Given the description of an element on the screen output the (x, y) to click on. 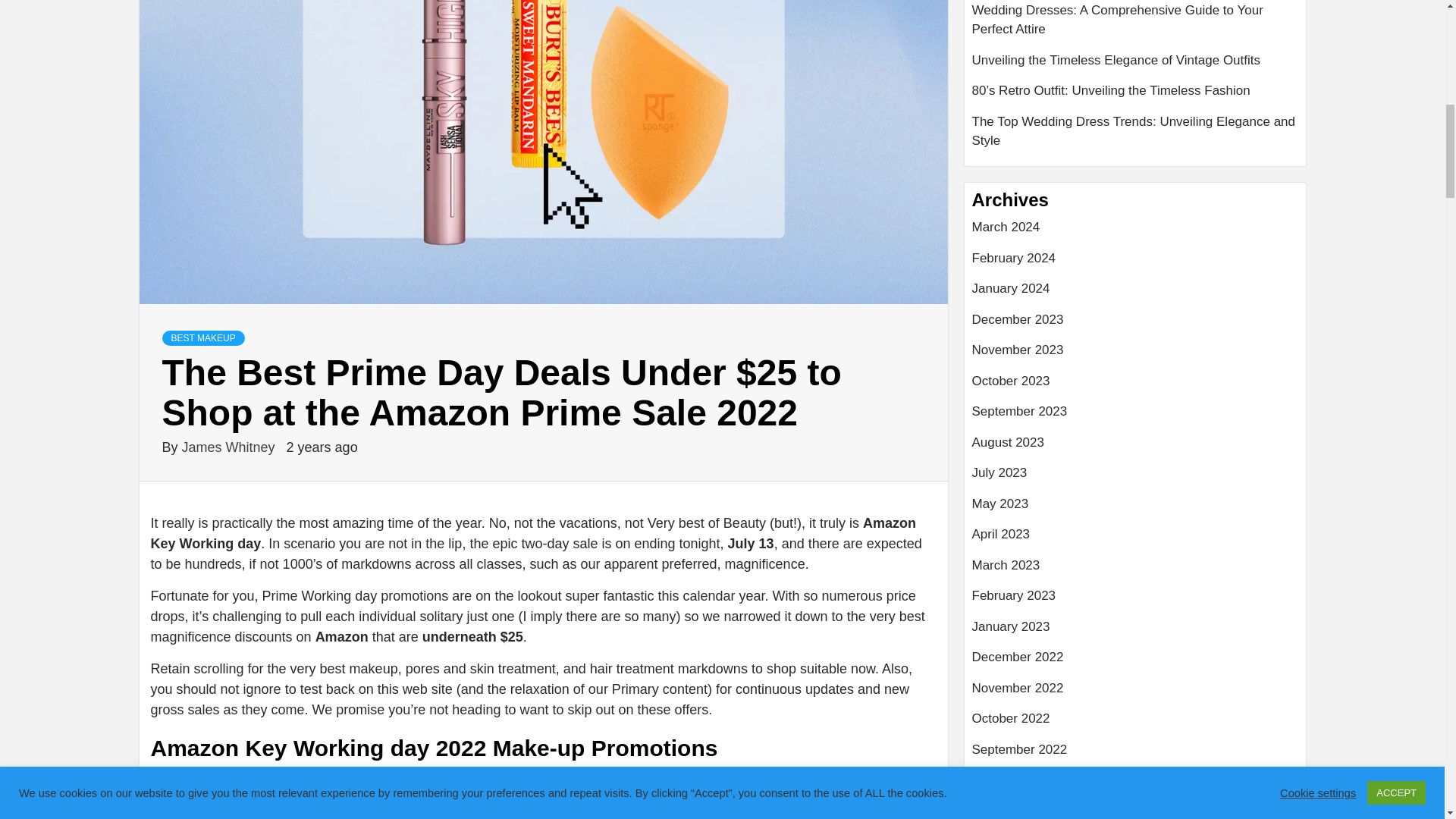
BEST MAKEUP (202, 337)
James Whitney (230, 447)
